Given the description of an element on the screen output the (x, y) to click on. 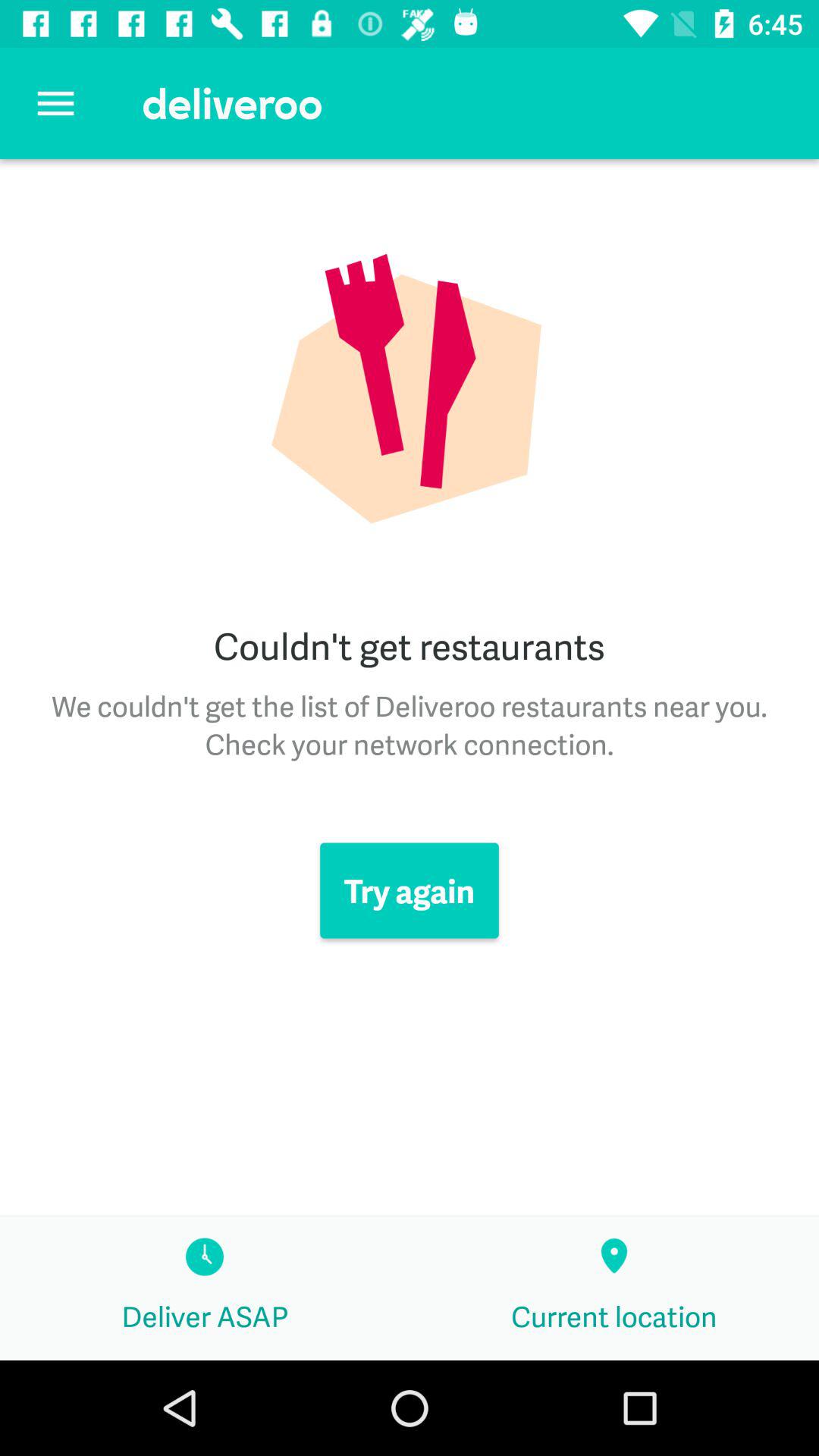
select the item below the we couldn t icon (409, 890)
